Given the description of an element on the screen output the (x, y) to click on. 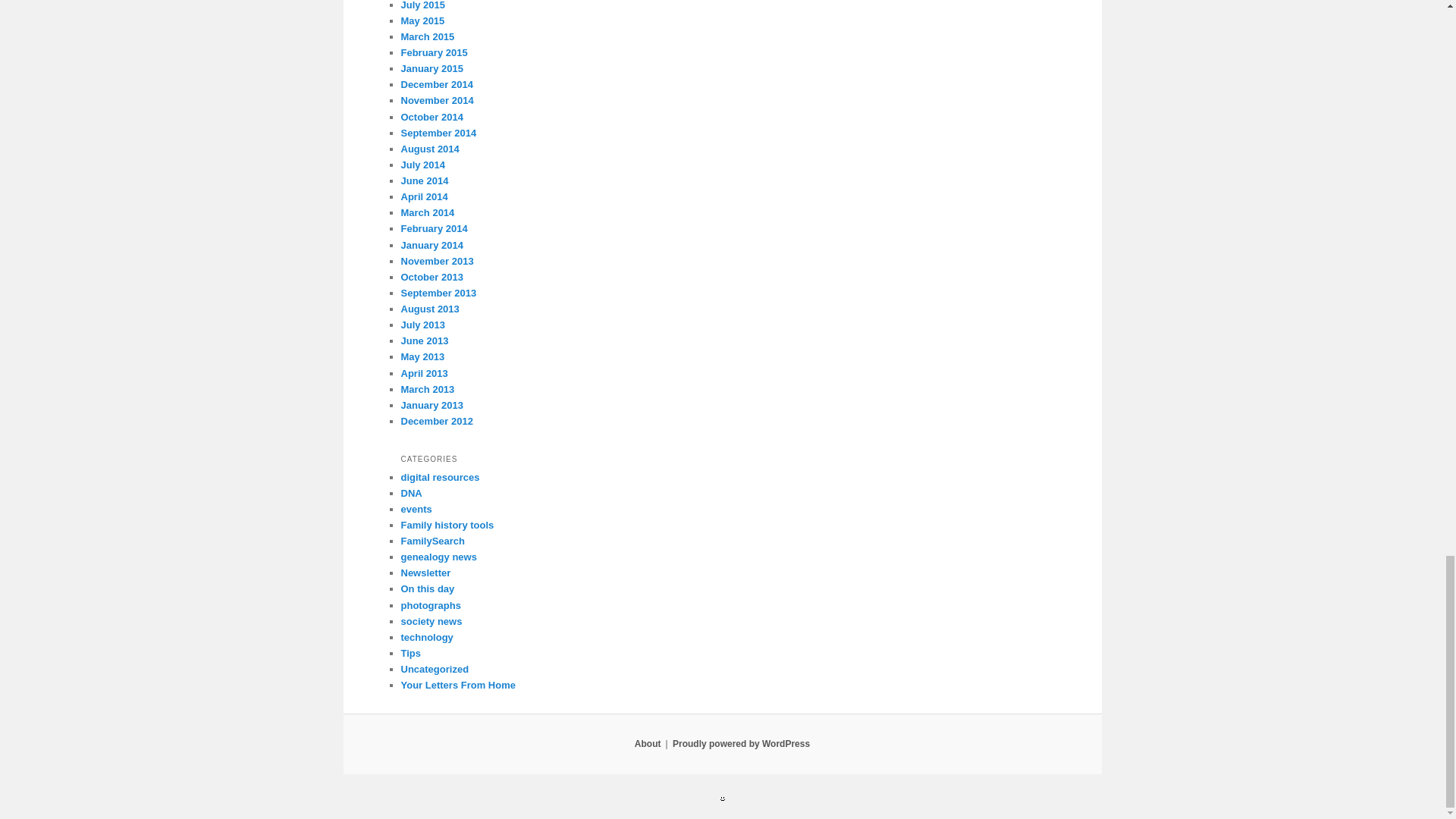
Semantic Personal Publishing Platform (740, 743)
